Given the description of an element on the screen output the (x, y) to click on. 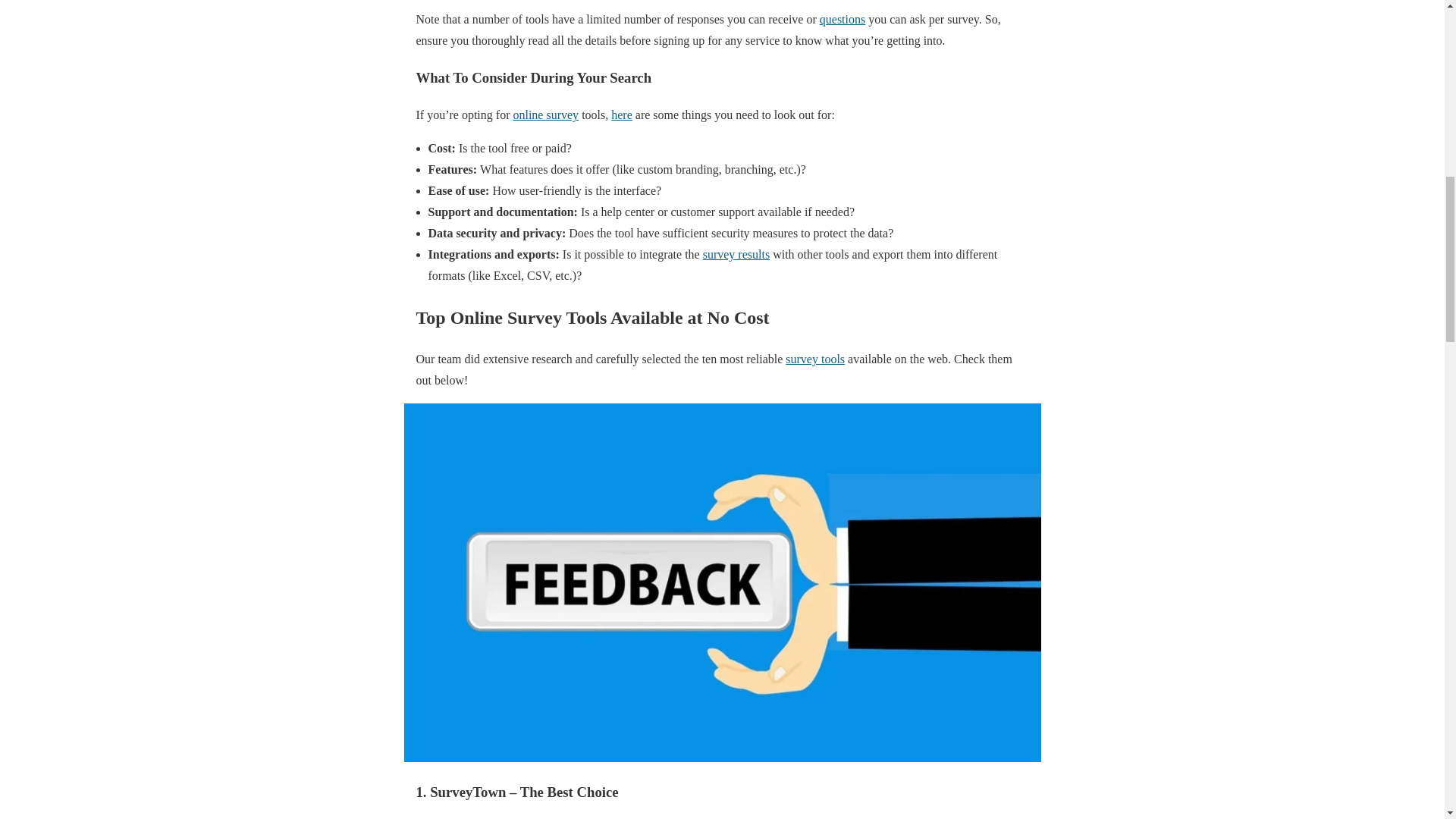
Tag - Survey Tools (815, 358)
here (621, 114)
questions (841, 19)
survey tools (815, 358)
survey results (736, 254)
Tag - Survey Results (736, 254)
Tag - Online Survey (545, 114)
online survey (545, 114)
